Given the description of an element on the screen output the (x, y) to click on. 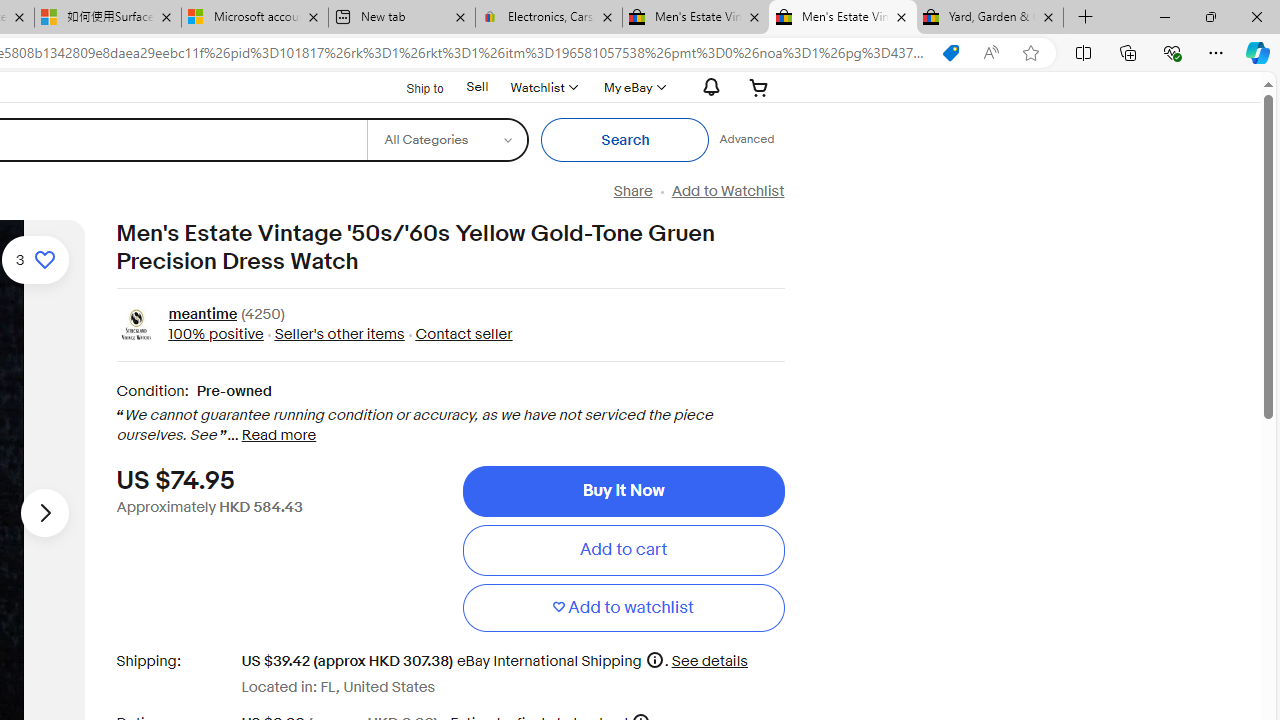
Your shopping cart (759, 87)
Share (632, 191)
Buy It Now (623, 490)
Add to watchlist - 3 watchers (35, 259)
Yard, Garden & Outdoor Living (989, 17)
Add to cart (623, 550)
